Given the description of an element on the screen output the (x, y) to click on. 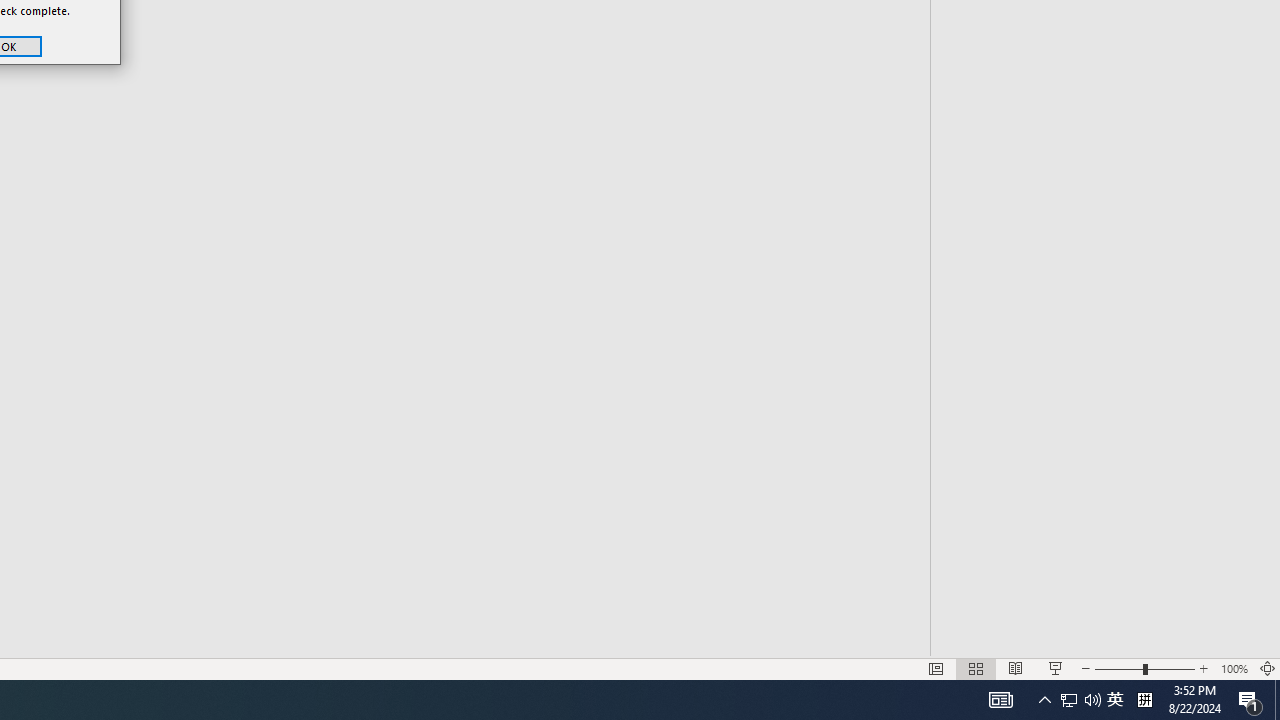
Zoom 100% (1234, 668)
